Given the description of an element on the screen output the (x, y) to click on. 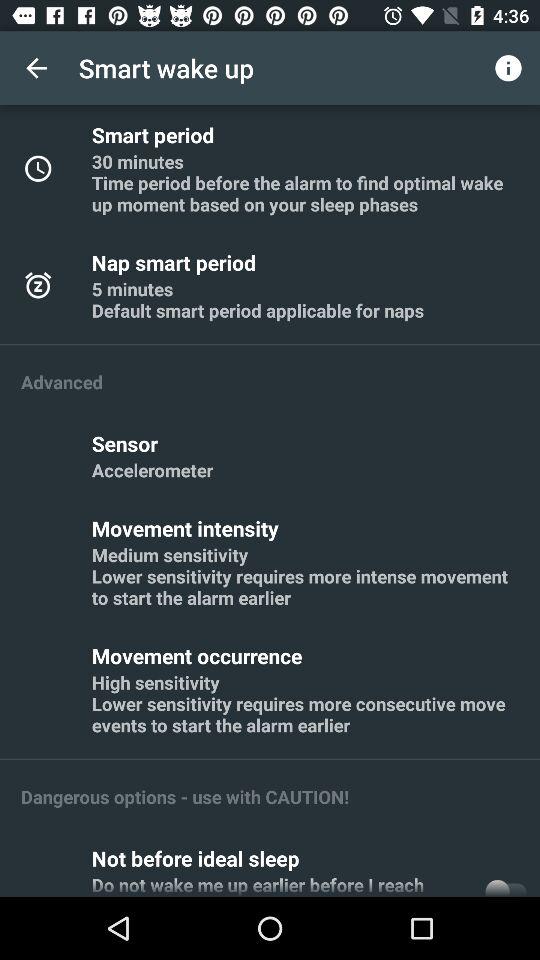
swipe to the movement intensity (188, 528)
